Given the description of an element on the screen output the (x, y) to click on. 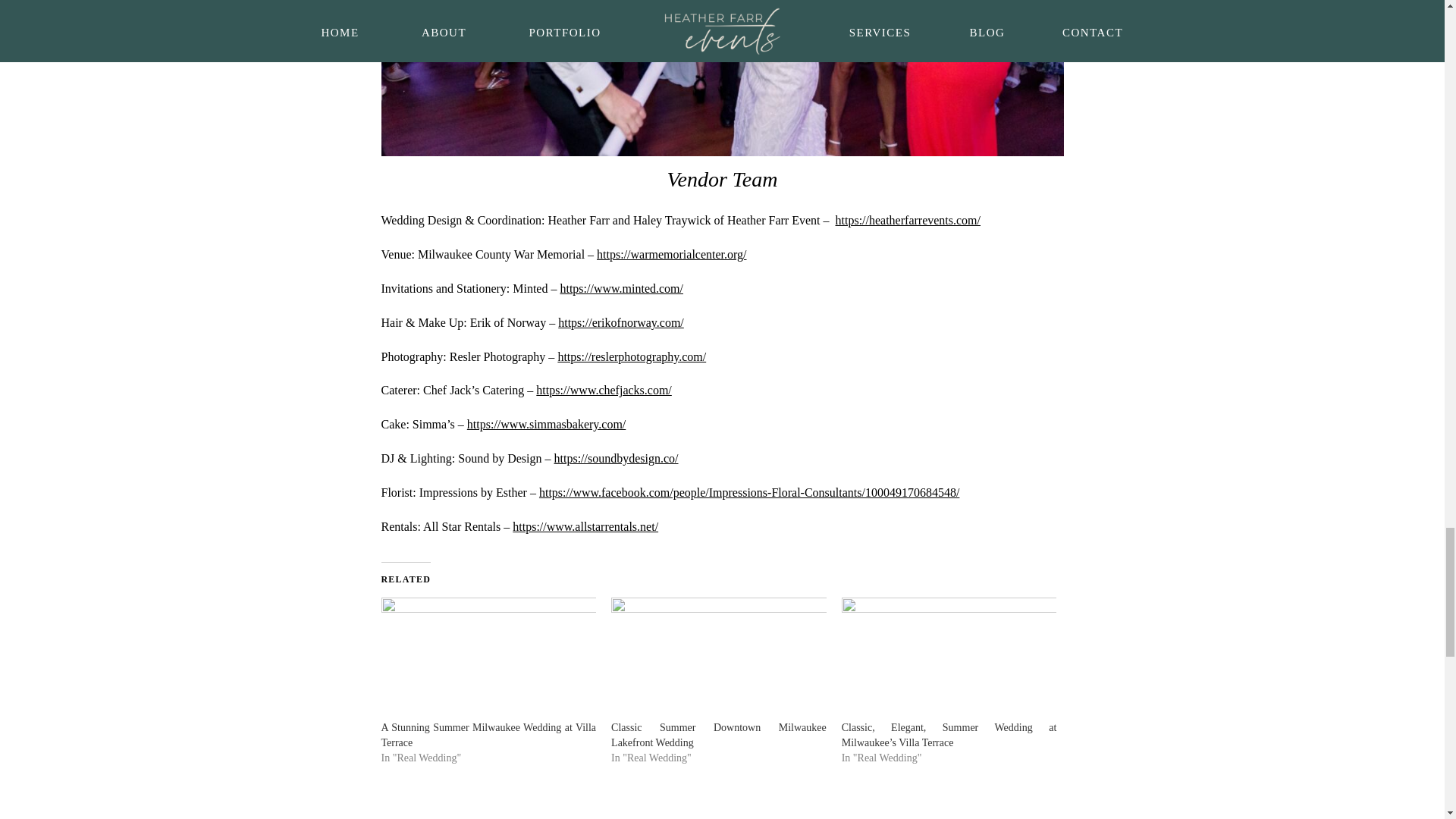
A Stunning Summer Milwaukee Wedding at Villa Terrace (487, 734)
Classic Summer Downtown Milwaukee Lakefront Wedding (719, 734)
A Stunning Summer Milwaukee Wedding at Villa Terrace (487, 658)
A Stunning Summer Milwaukee Wedding at Villa Terrace (487, 734)
